Given the description of an element on the screen output the (x, y) to click on. 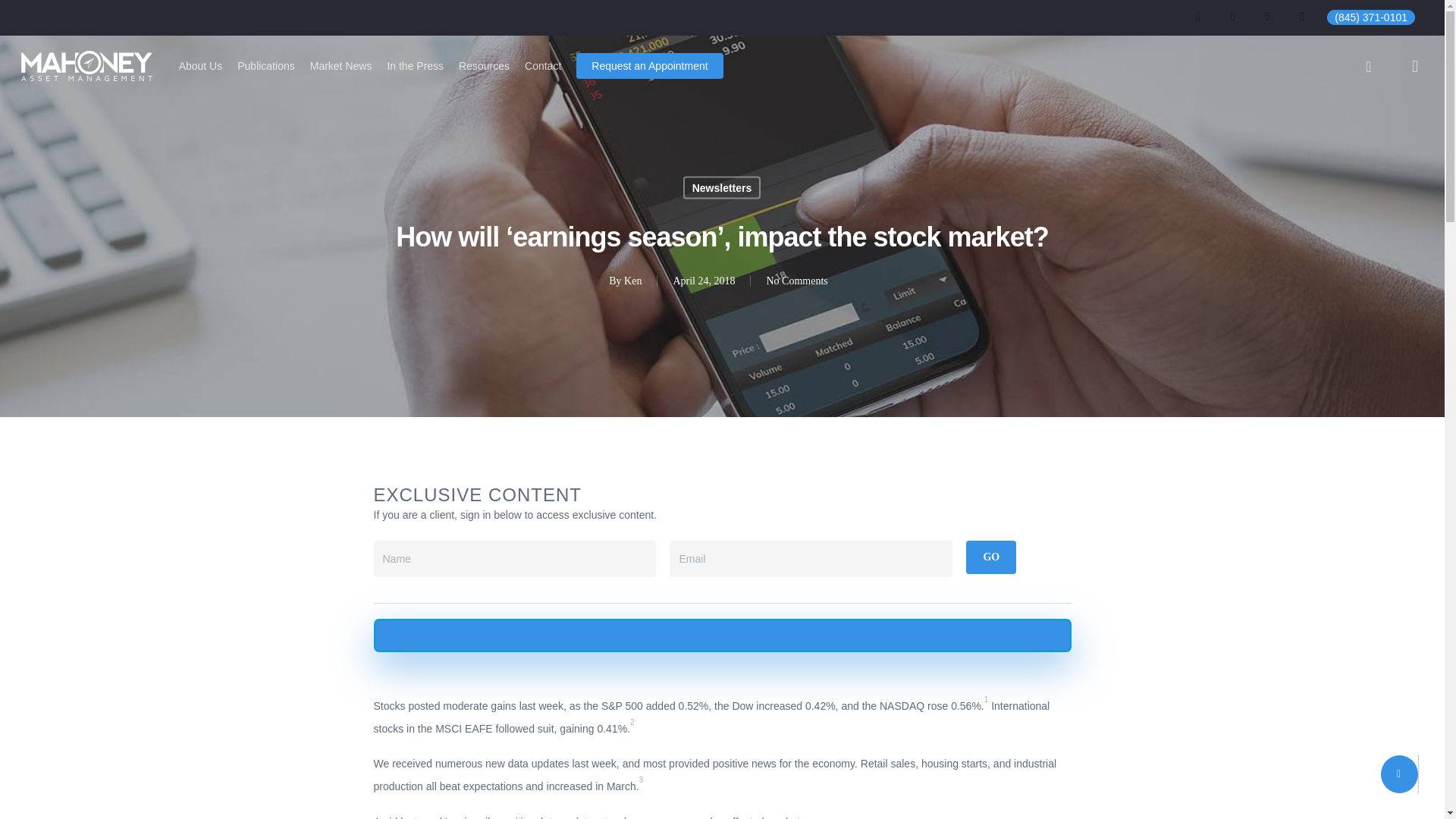
Publications (266, 65)
Contact (542, 65)
Go (991, 557)
In the Press (415, 65)
Resources (483, 65)
Posts by Ken (633, 279)
Market News (341, 65)
Newsletters (721, 187)
No Comments (796, 279)
About Us (200, 65)
